Given the description of an element on the screen output the (x, y) to click on. 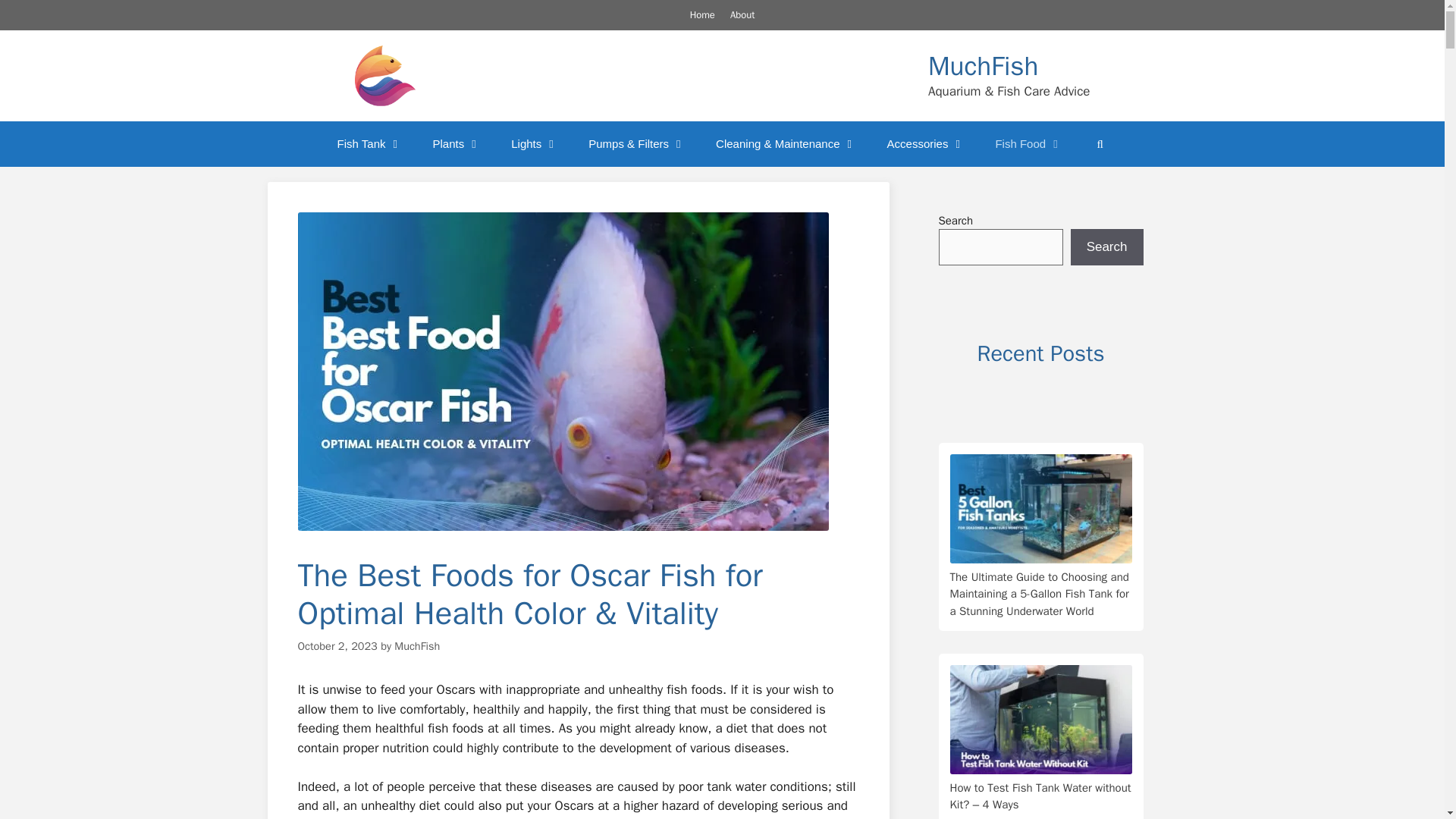
Plants (456, 144)
Lights (534, 144)
About (742, 14)
Home (702, 14)
Fish Tank (369, 144)
View all posts by MuchFish (416, 644)
